Given the description of an element on the screen output the (x, y) to click on. 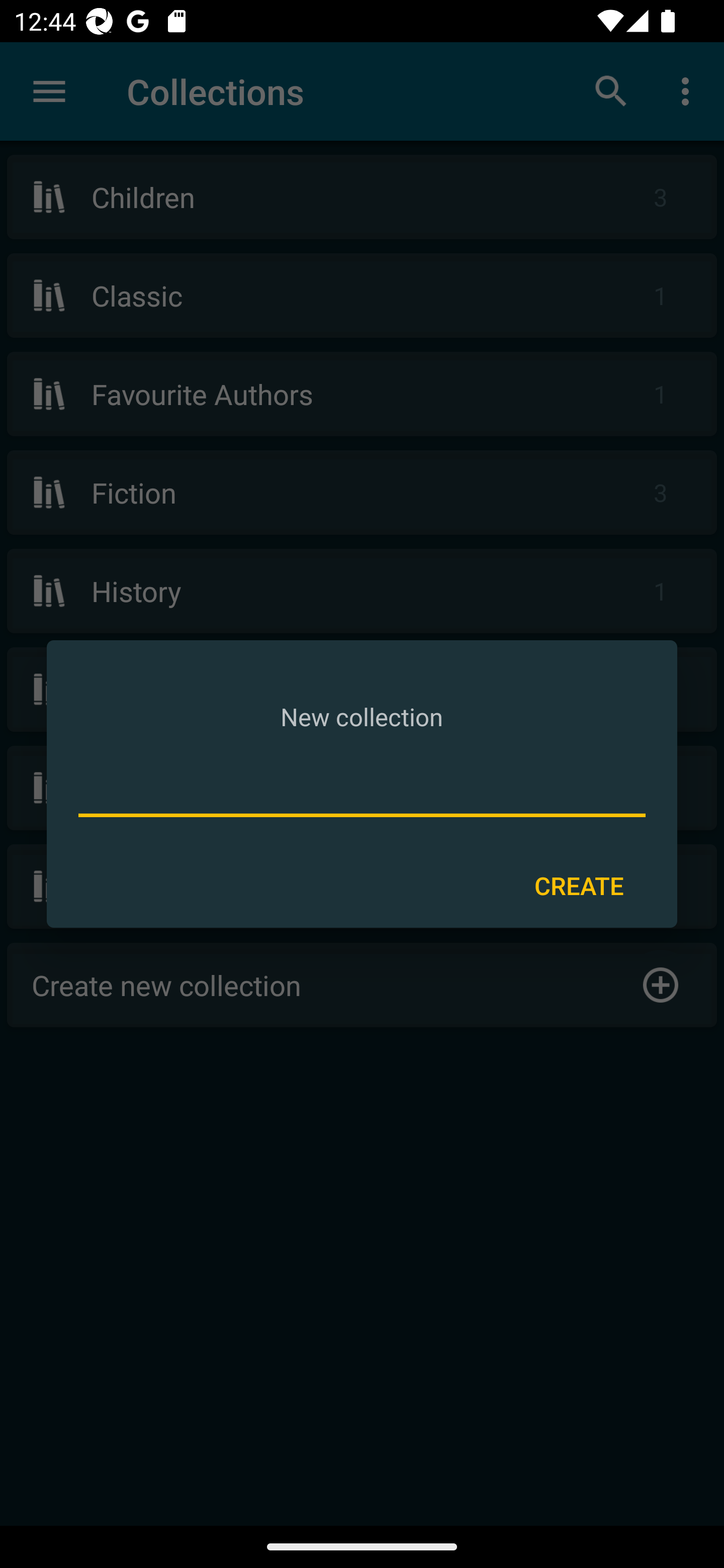
CREATE (578, 885)
